Given the description of an element on the screen output the (x, y) to click on. 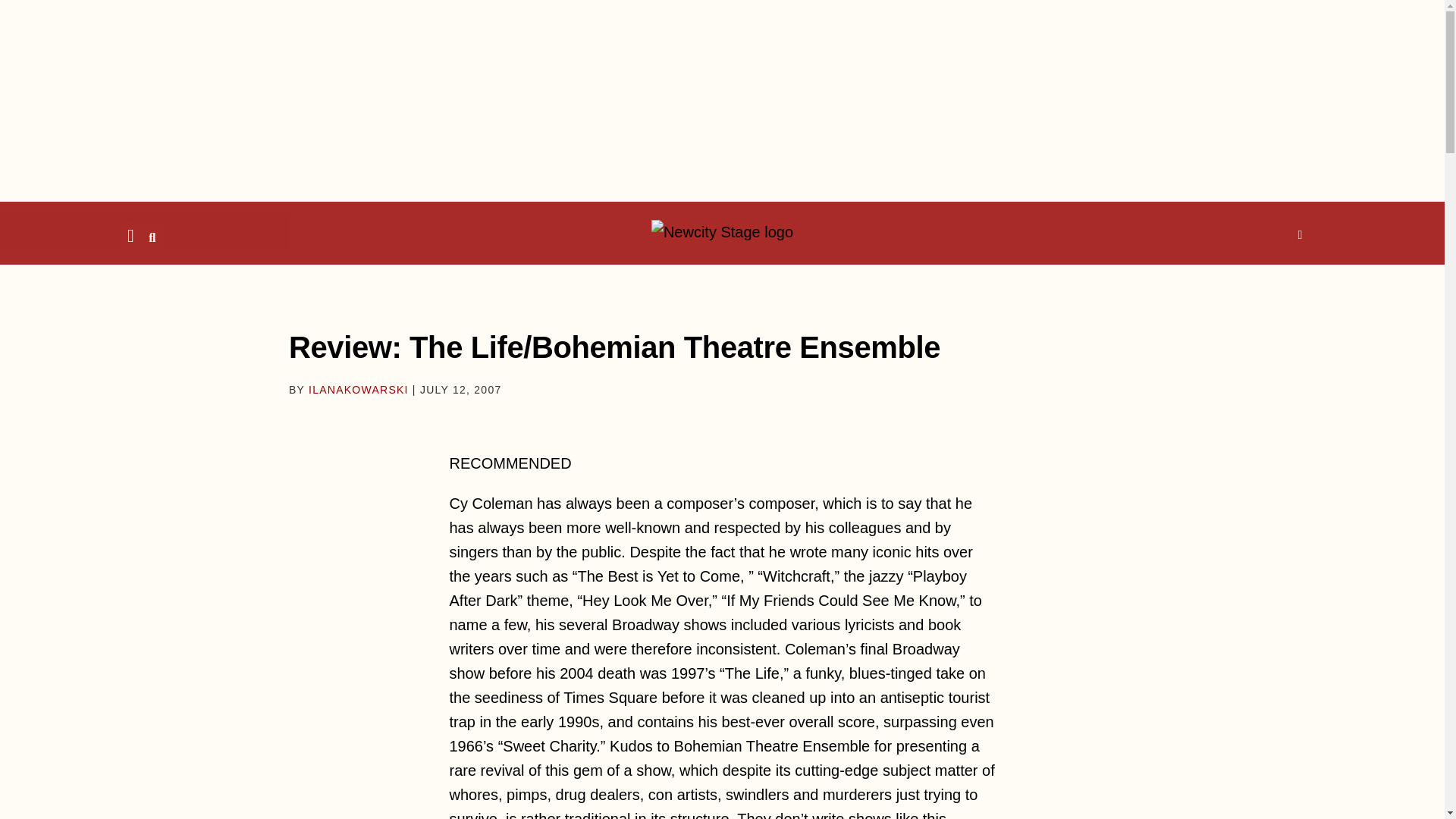
Newcity Stage (721, 232)
ILANAKOWARSKI (358, 389)
